Given the description of an element on the screen output the (x, y) to click on. 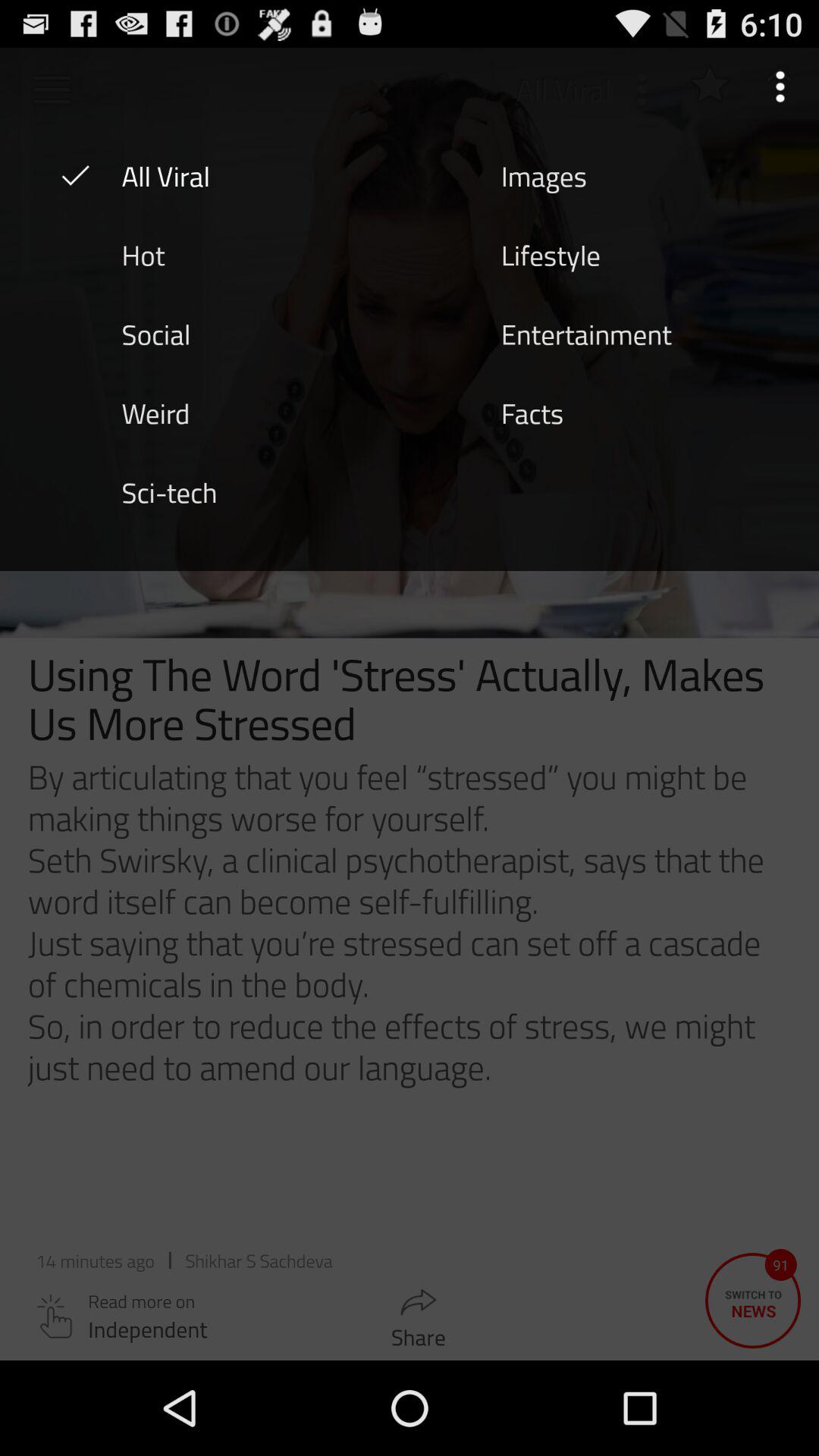
turn on item next to the all viral item (543, 174)
